Given the description of an element on the screen output the (x, y) to click on. 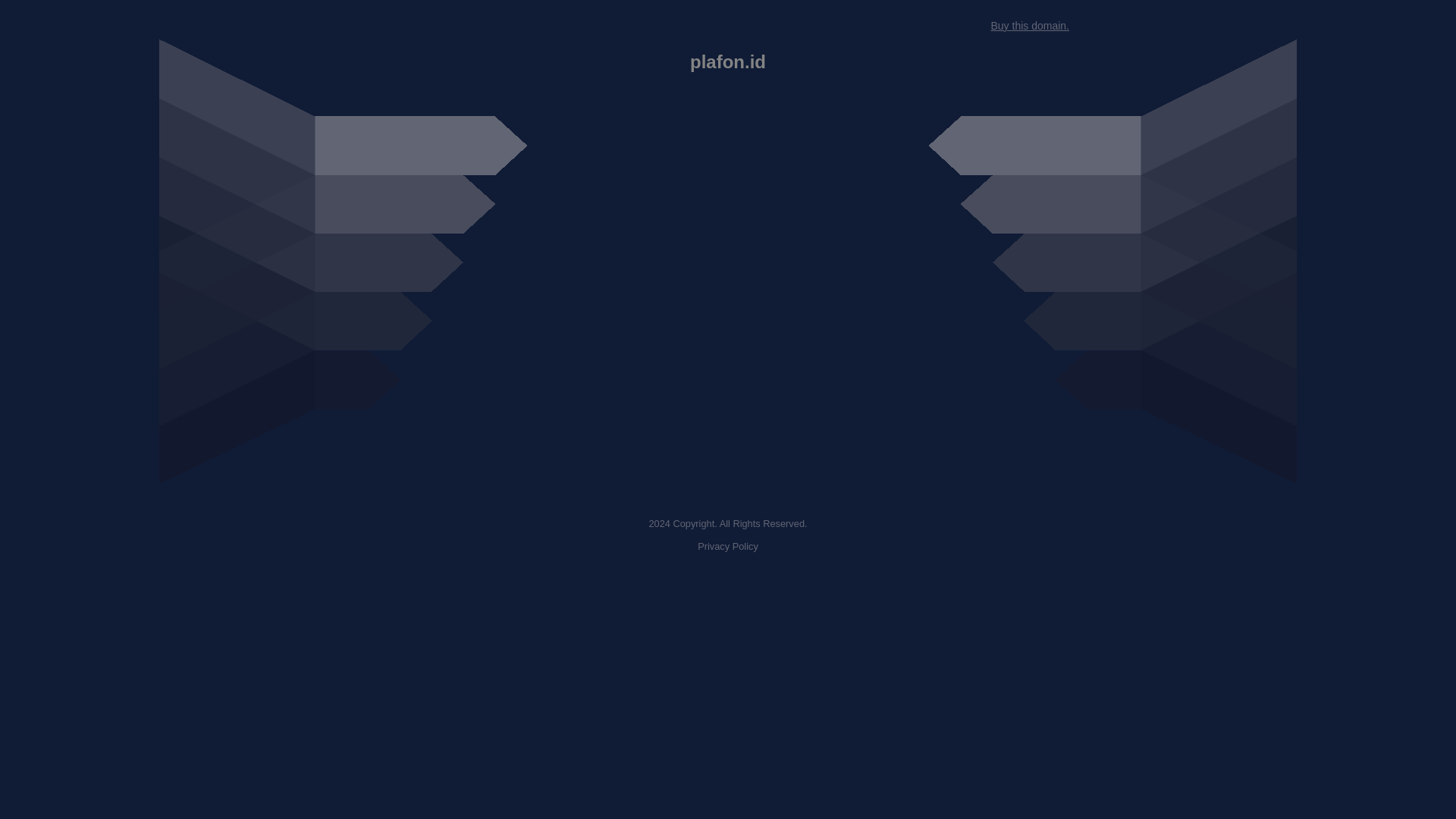
Privacy Policy (727, 546)
Buy this domain. (1029, 25)
